Given the description of an element on the screen output the (x, y) to click on. 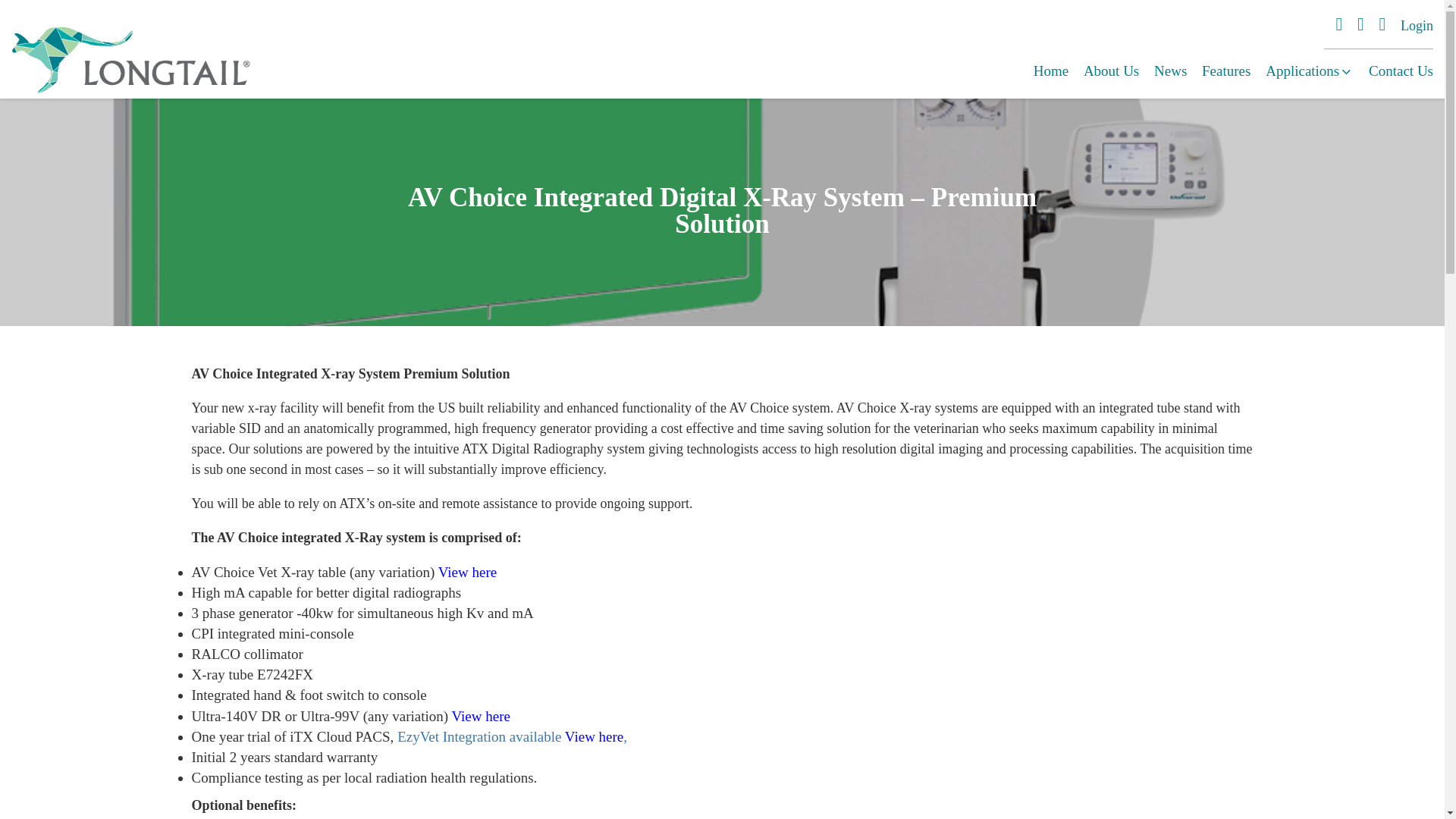
View here (480, 715)
Home (1050, 70)
Features (1226, 70)
News (1170, 70)
EzyVet Integration available (478, 736)
Applications (1309, 70)
View here, (595, 736)
View here (467, 571)
Contact Us (1400, 70)
About Us (1110, 70)
Login (1416, 25)
